Given the description of an element on the screen output the (x, y) to click on. 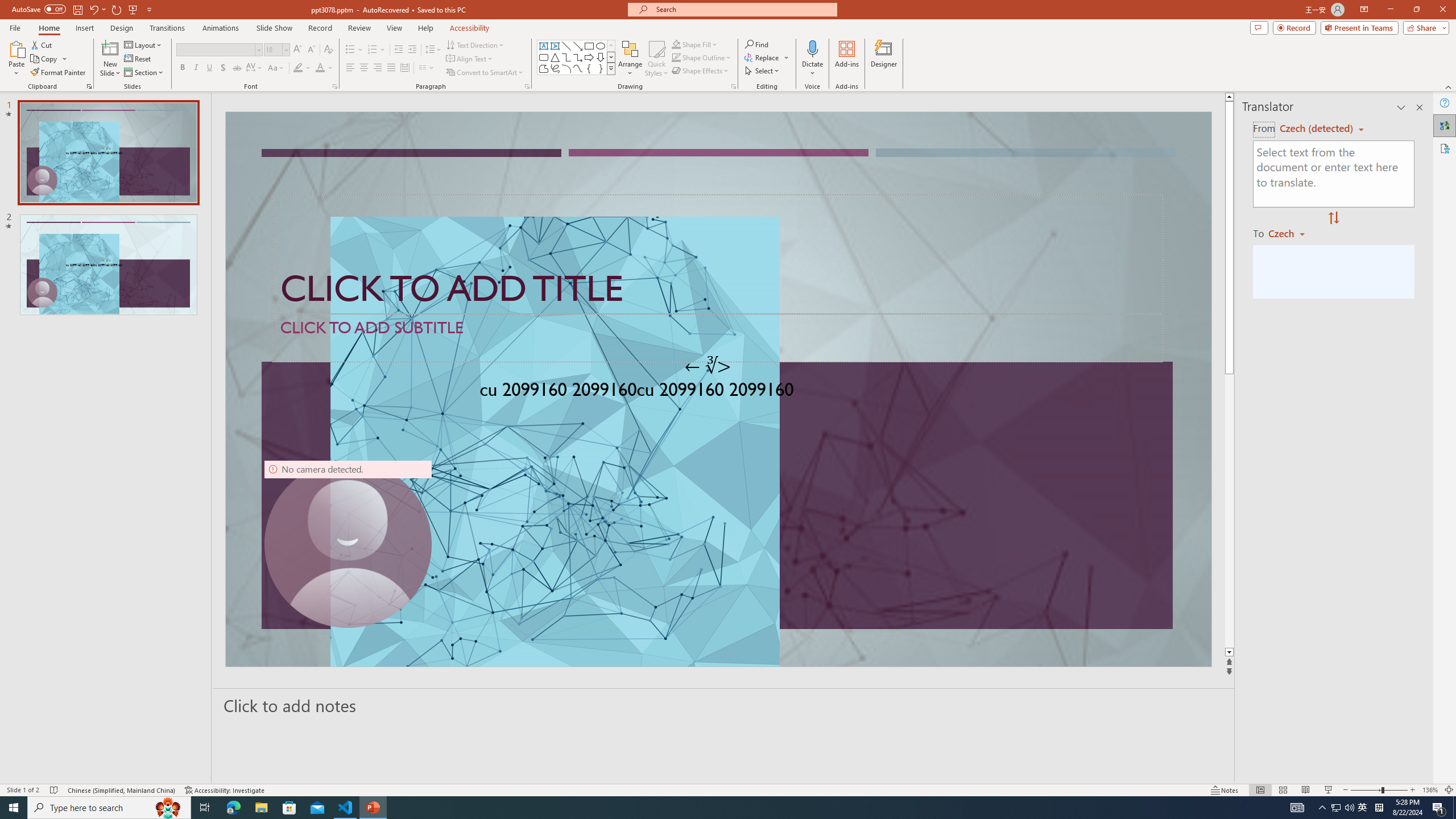
TextBox 61 (716, 391)
